Given the description of an element on the screen output the (x, y) to click on. 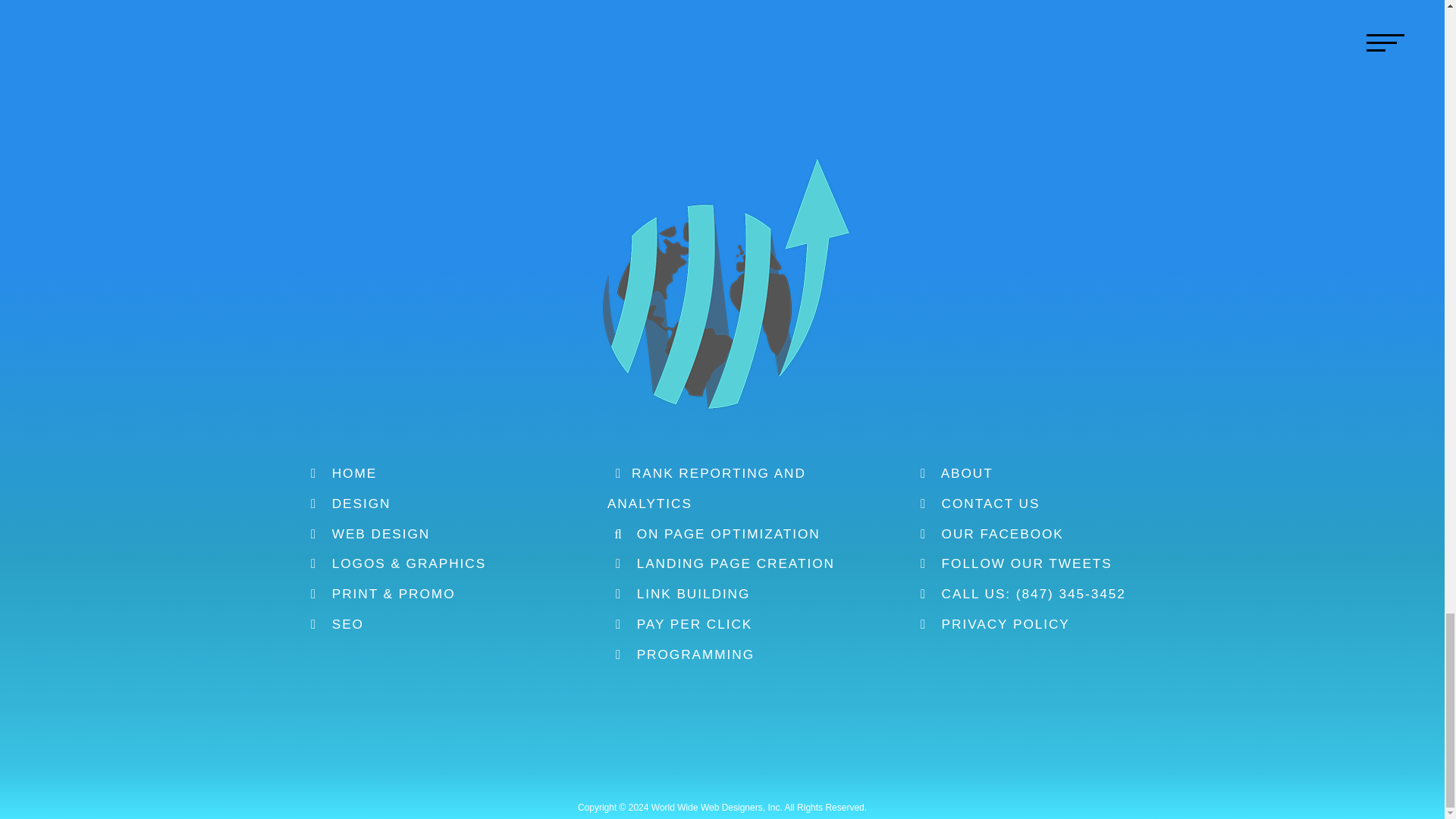
HOME (339, 473)
WEB DESIGN (365, 533)
DESIGN (346, 503)
ON PAGE OPTIMIZATION (714, 533)
RANK REPORTING AND ANALYTICS (706, 488)
SEO (333, 623)
